Given the description of an element on the screen output the (x, y) to click on. 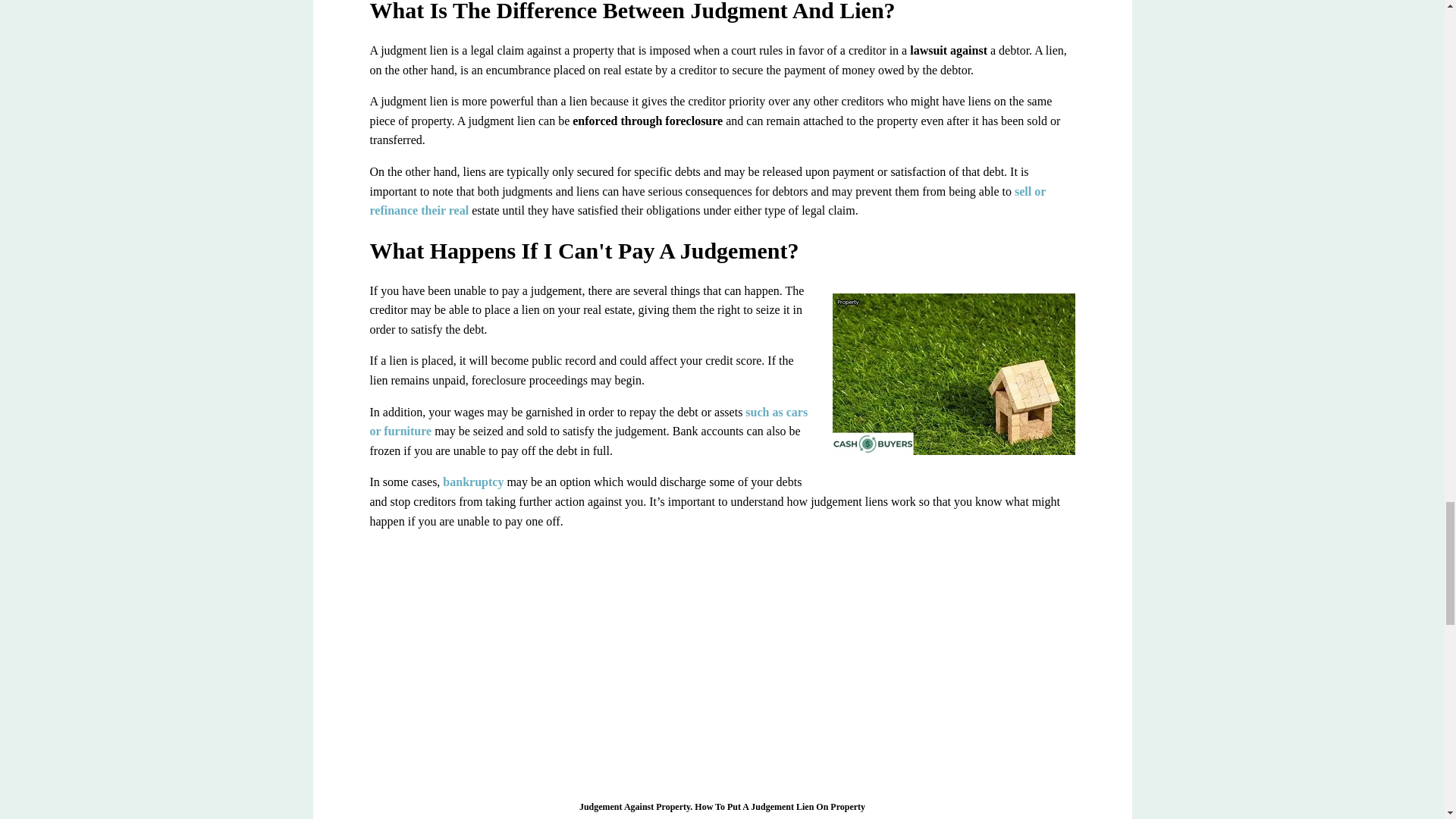
YouTube video player (721, 662)
bankruptcy (471, 481)
such as cars or furniture (588, 421)
sell or refinance their real (707, 201)
